Given the description of an element on the screen output the (x, y) to click on. 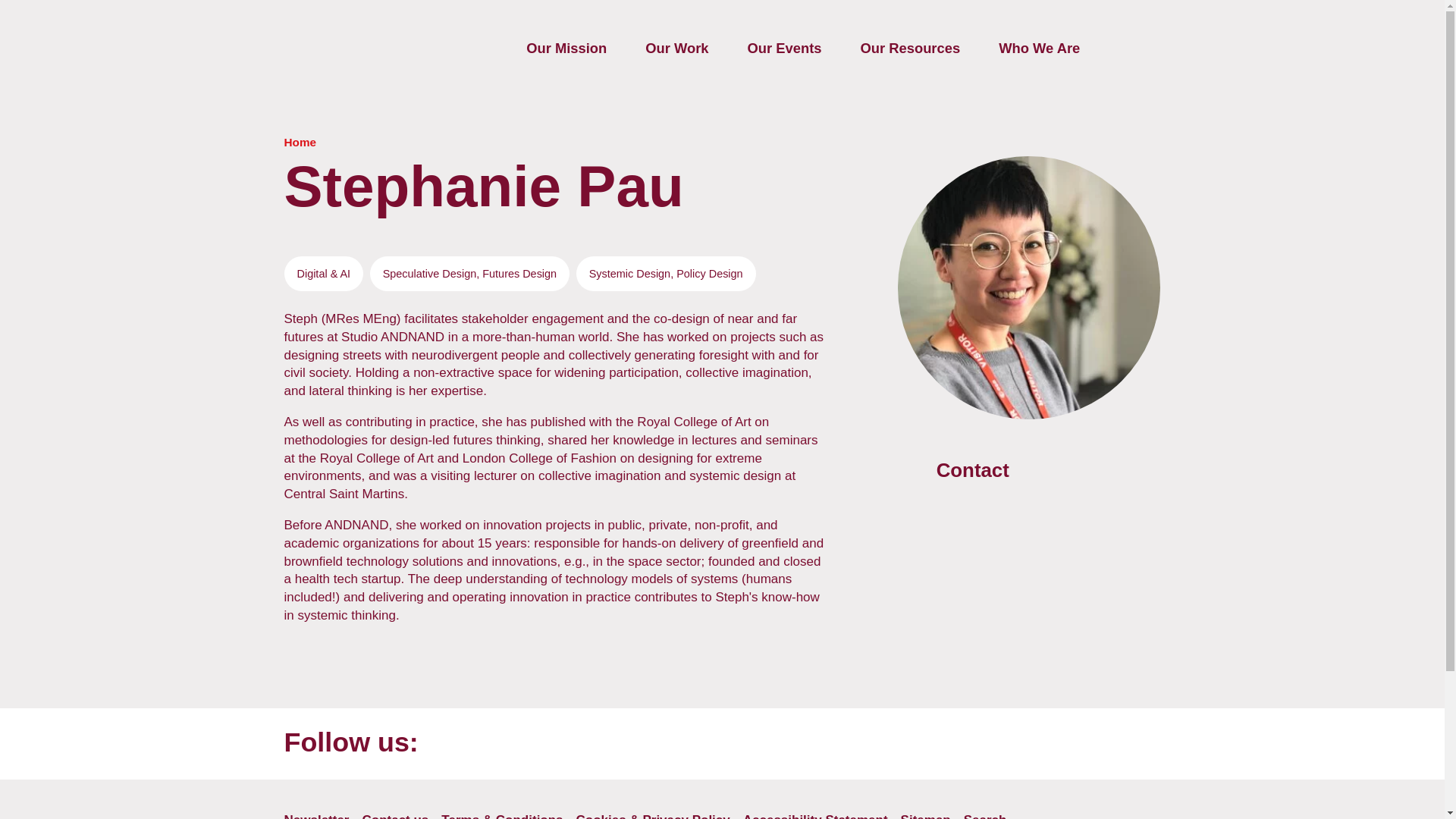
Our Mission (566, 48)
Search (1142, 48)
Design Council on Medium (1079, 747)
Our Work (677, 48)
Design Council - Design for Planet (324, 40)
Design Council on YouTube (732, 747)
Follow Design Council on LinkedIn (905, 747)
Who We Are (1039, 48)
Follow Design Council on Twitter (789, 747)
Design Council on Vimeo (1137, 747)
Our Events (784, 48)
Design Council on Facebook (847, 747)
Our Resources (910, 48)
Design Council on The Dots (1021, 747)
Design Council on Instagram (964, 747)
